Given the description of an element on the screen output the (x, y) to click on. 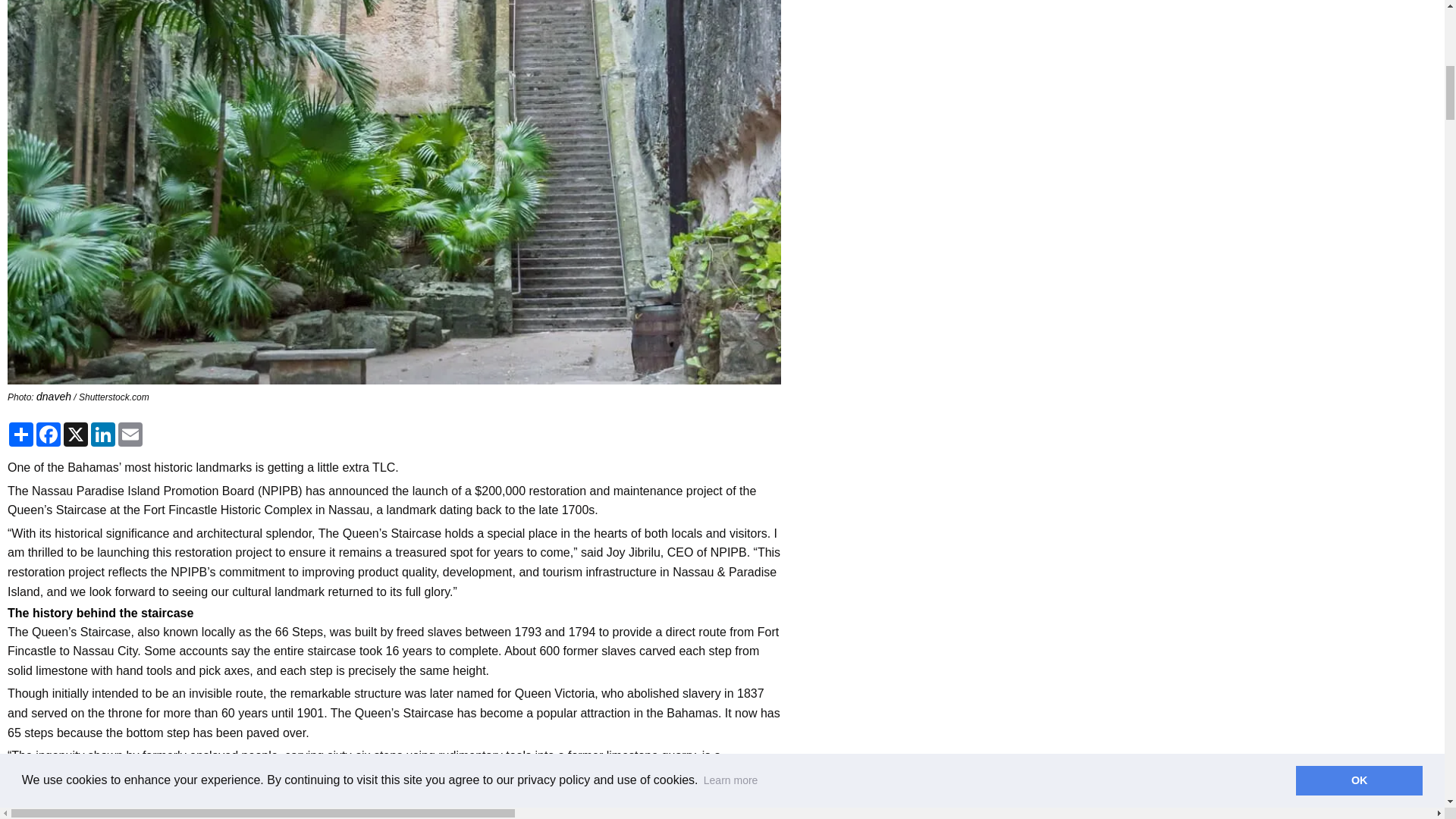
dnaveh (53, 396)
LinkedIn (102, 434)
Email (130, 434)
X (75, 434)
Facebook (48, 434)
